Given the description of an element on the screen output the (x, y) to click on. 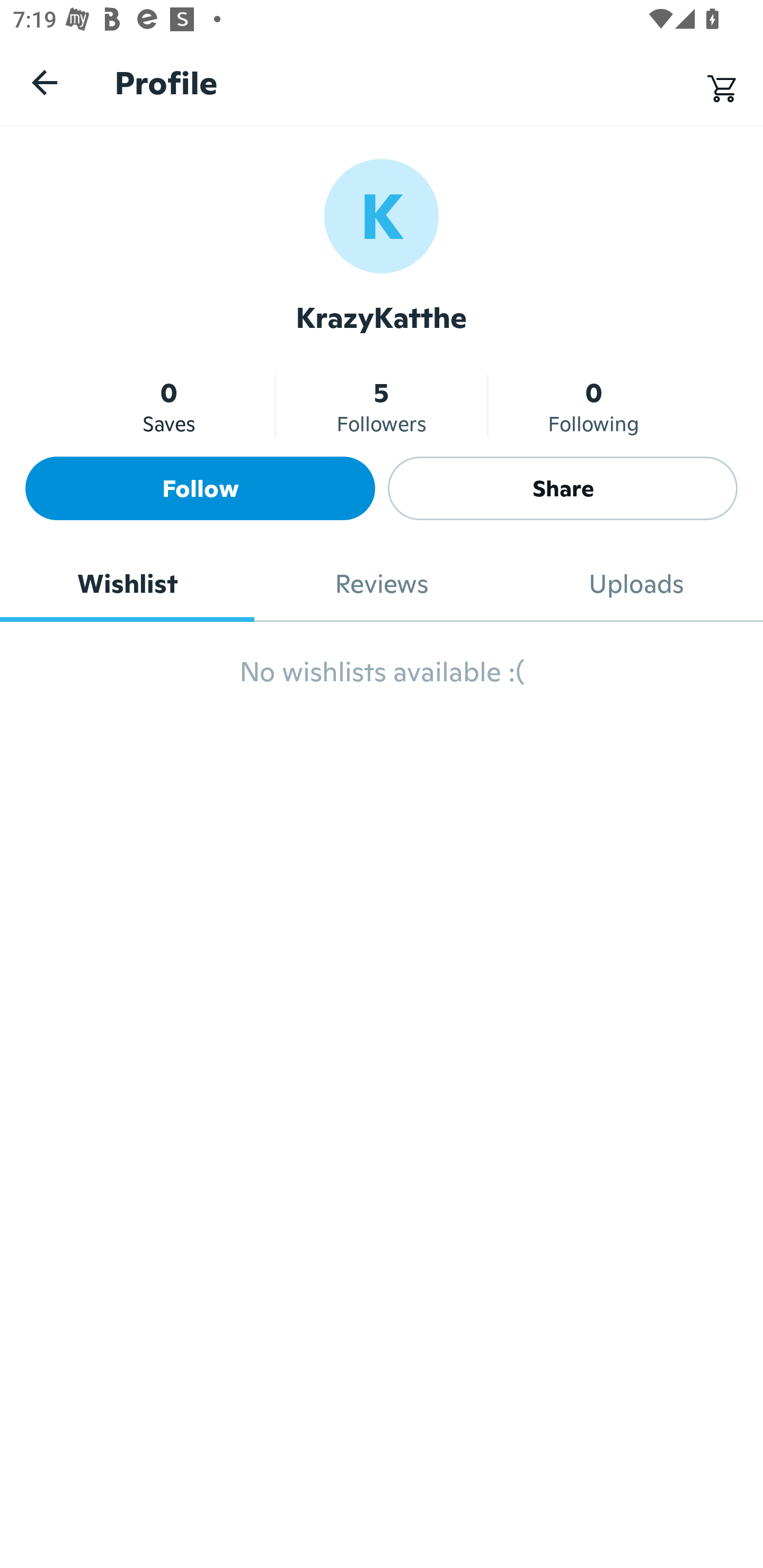
Navigate up (44, 82)
K (381, 215)
5 Followers (381, 405)
0 Following (593, 405)
Follow (200, 488)
Share (562, 488)
Wishlist (127, 583)
Reviews (381, 583)
Uploads (635, 583)
No wishlists available :( (381, 679)
